Given the description of an element on the screen output the (x, y) to click on. 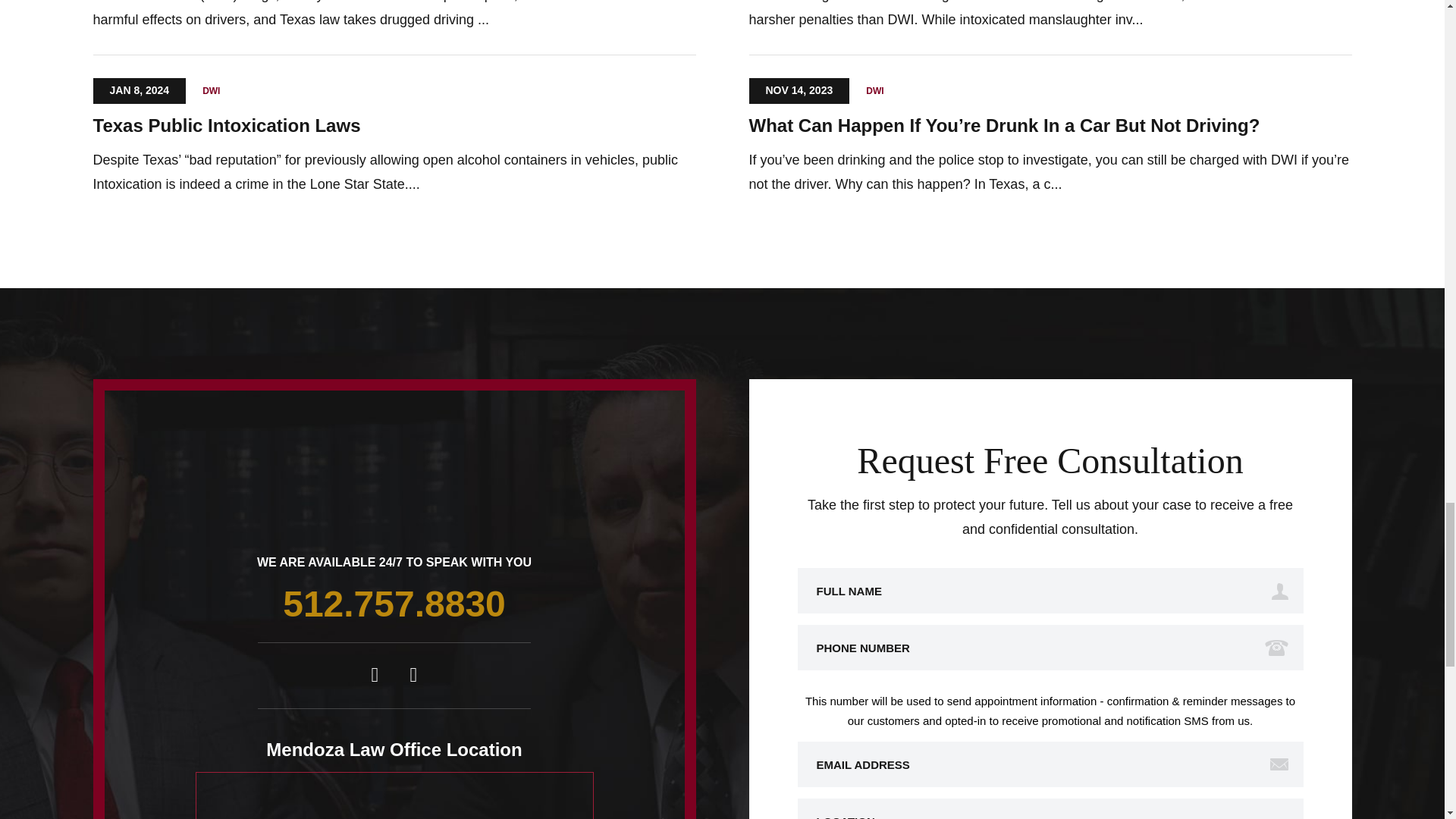
Mendoza Law Office Location (394, 800)
